Given the description of an element on the screen output the (x, y) to click on. 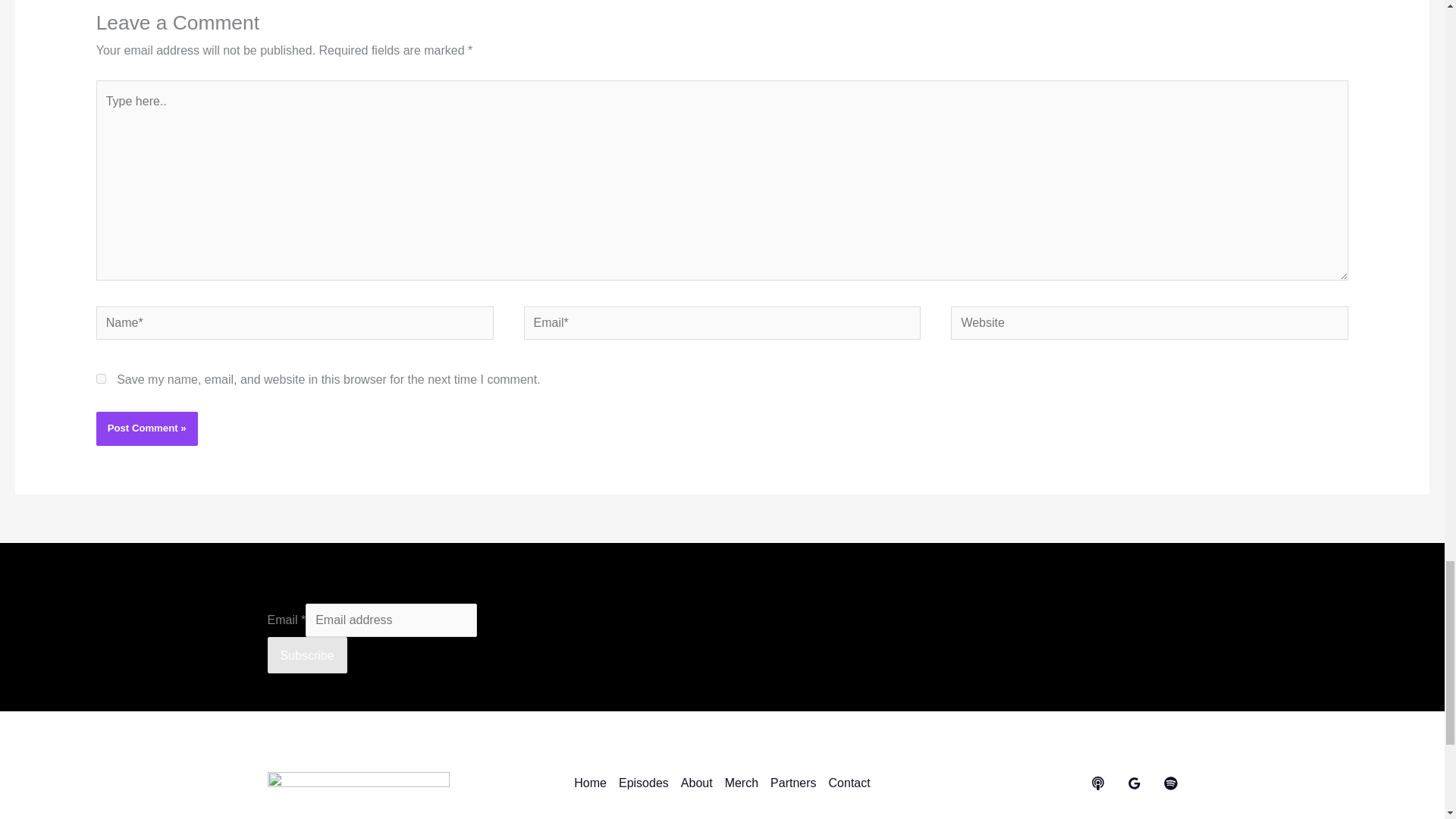
Subscribe (306, 655)
yes (101, 378)
Home (592, 783)
